Given the description of an element on the screen output the (x, y) to click on. 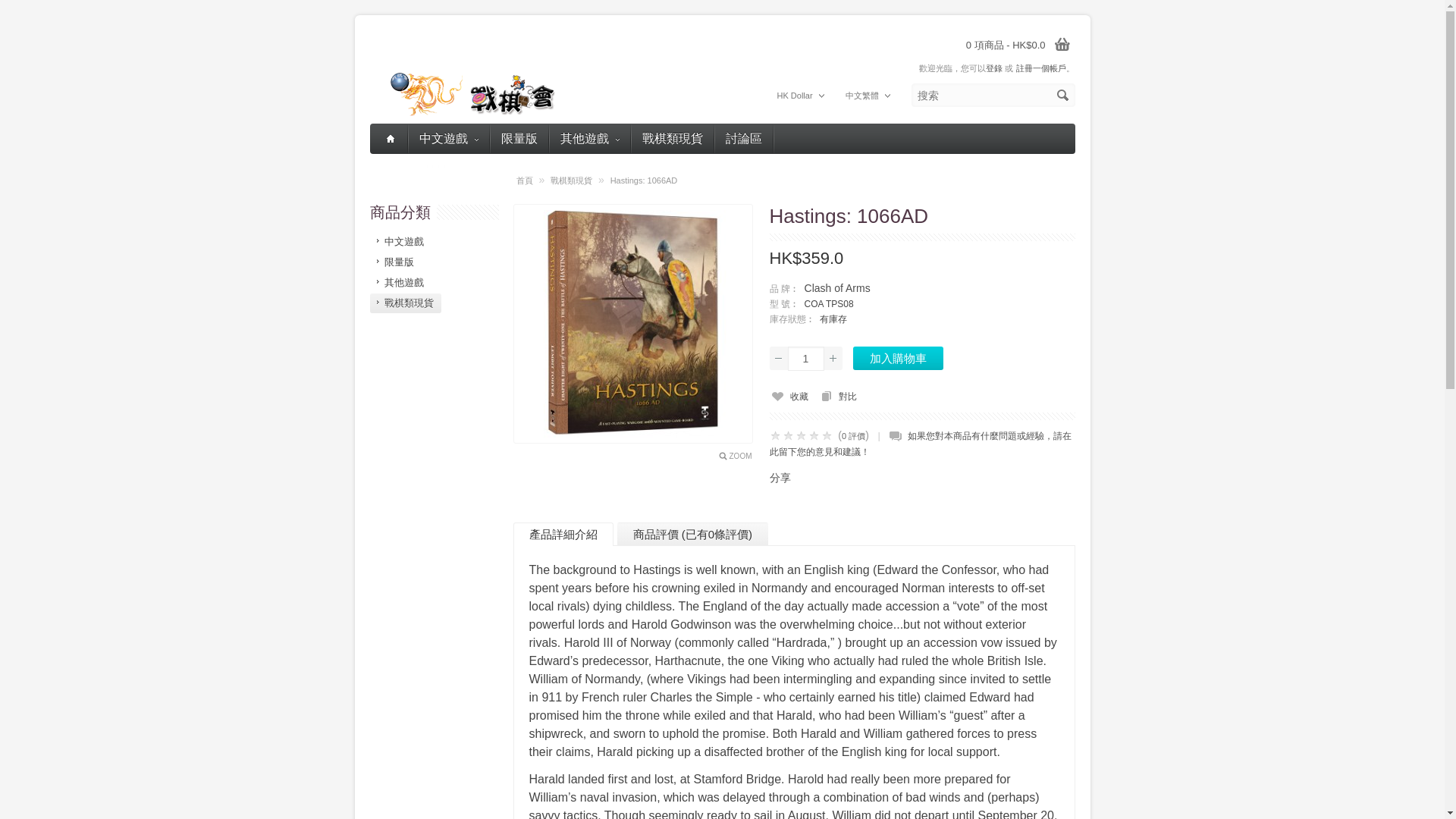
1 (805, 358)
Blank (435, 166)
Hastings: 1066AD (631, 323)
